Given the description of an element on the screen output the (x, y) to click on. 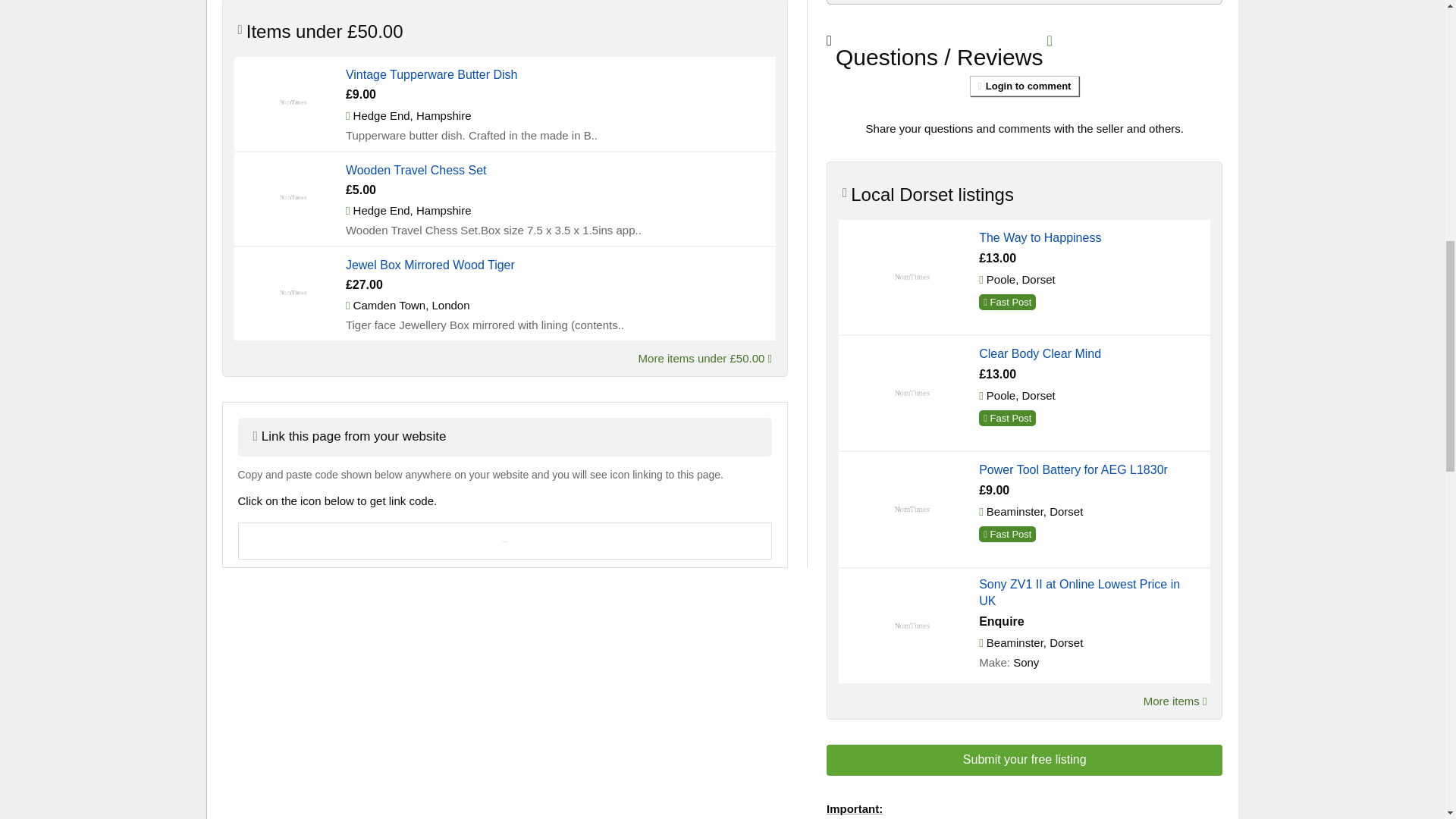
Classified (290, 195)
Classified (290, 291)
Classified (290, 101)
